Given the description of an element on the screen output the (x, y) to click on. 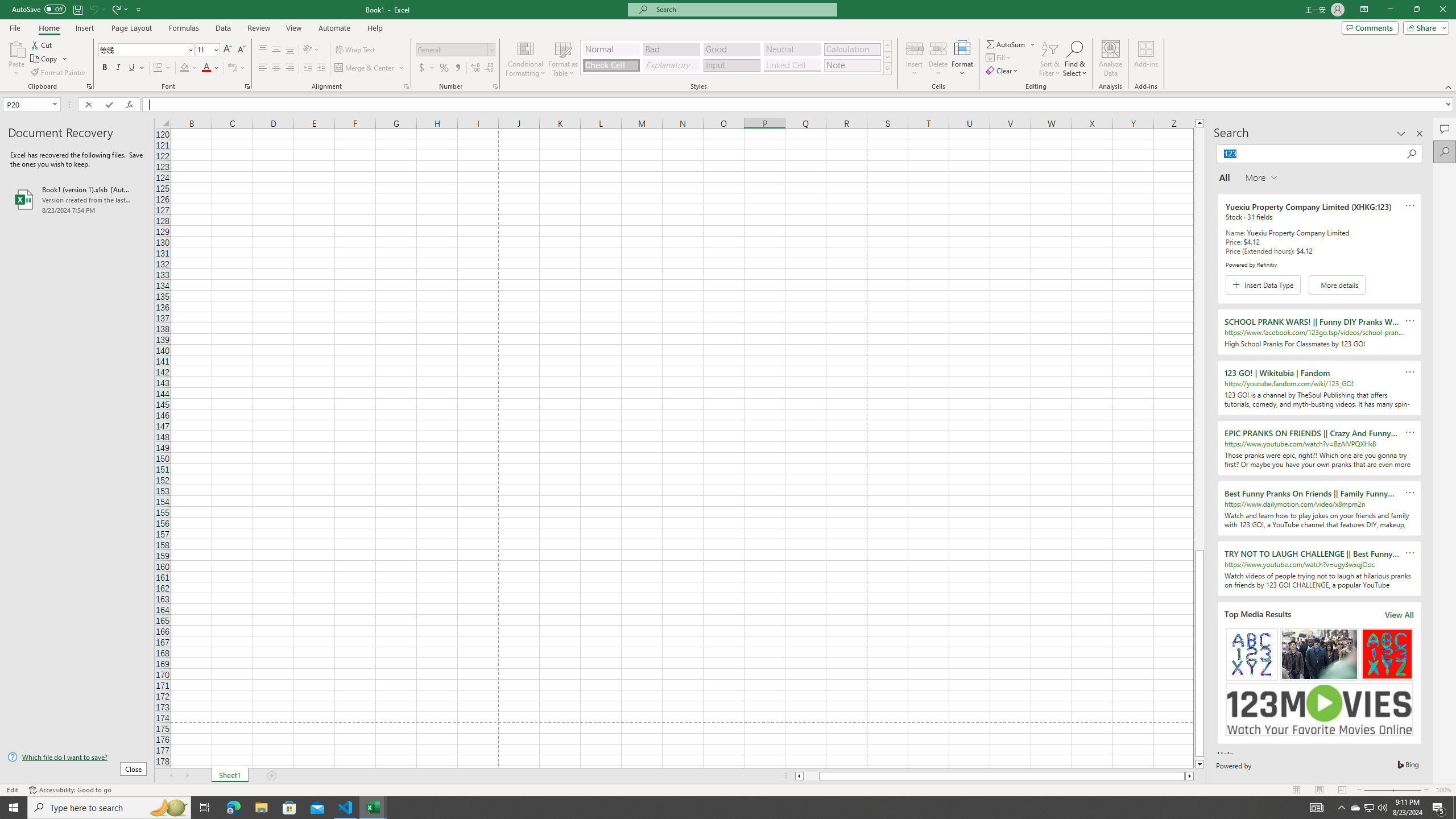
Search (1444, 151)
Copy (45, 58)
Close pane (1419, 133)
Insert Cells (914, 48)
Conditional Formatting (525, 58)
AutoSave (38, 9)
Merge & Center (369, 67)
Format Cell Font (247, 85)
Font (147, 49)
Automate (334, 28)
Format Painter (58, 72)
Accounting Number Format (422, 67)
